Given the description of an element on the screen output the (x, y) to click on. 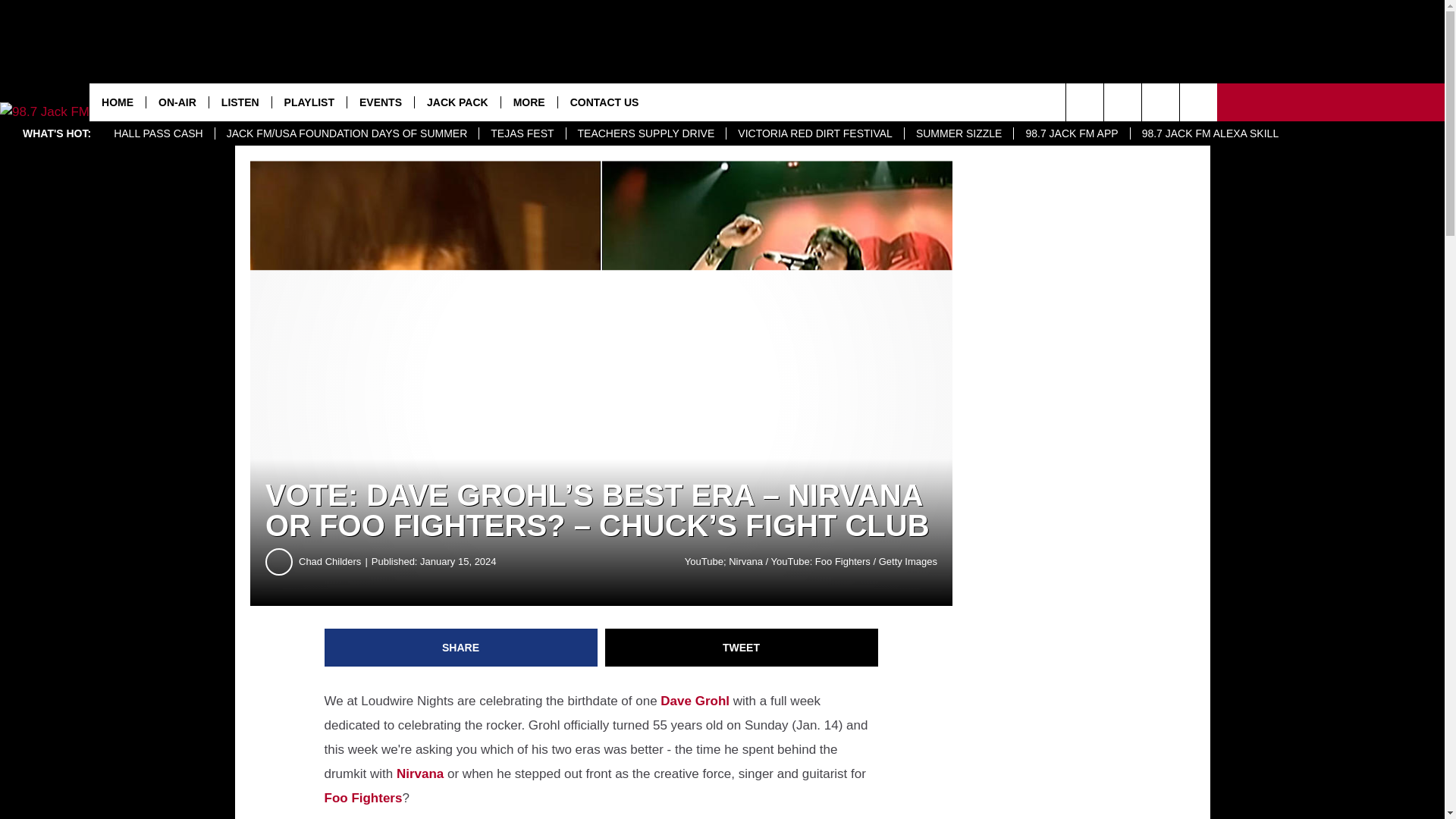
LISTEN (239, 102)
ON-AIR (176, 102)
SUMMER SIZZLE (958, 133)
JACK PACK (456, 102)
98.7 JACK FM APP (1071, 133)
VICTORIA RED DIRT FESTIVAL (814, 133)
HALL PASS CASH (157, 133)
TEJAS FEST (521, 133)
EVENTS (379, 102)
WHAT'S HOT: (56, 133)
TWEET (741, 647)
MORE (528, 102)
98.7 JACK FM ALEXA SKILL (1209, 133)
SHARE (460, 647)
TEACHERS SUPPLY DRIVE (646, 133)
